Given the description of an element on the screen output the (x, y) to click on. 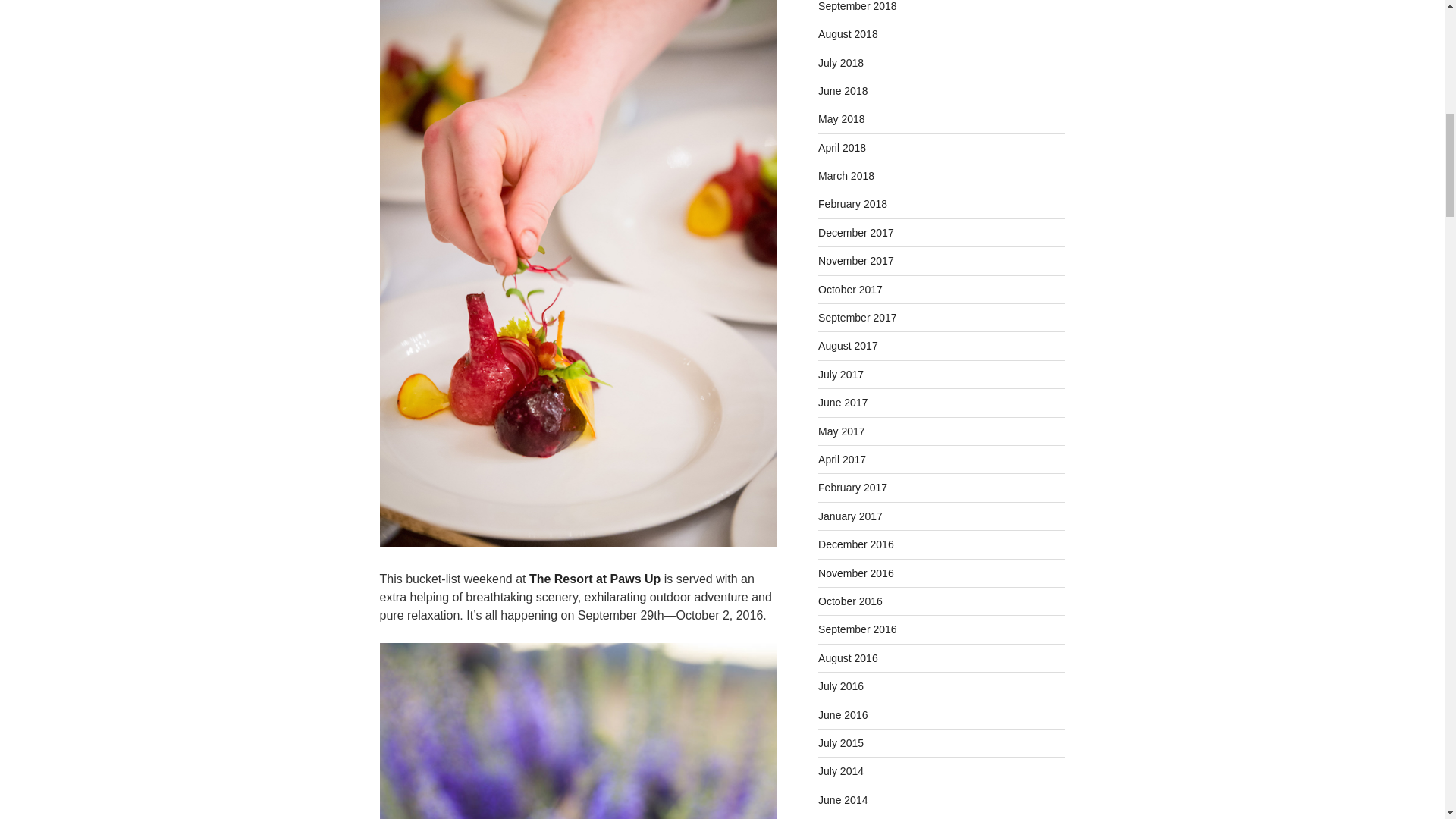
The Resort at Paws Up (595, 578)
